Given the description of an element on the screen output the (x, y) to click on. 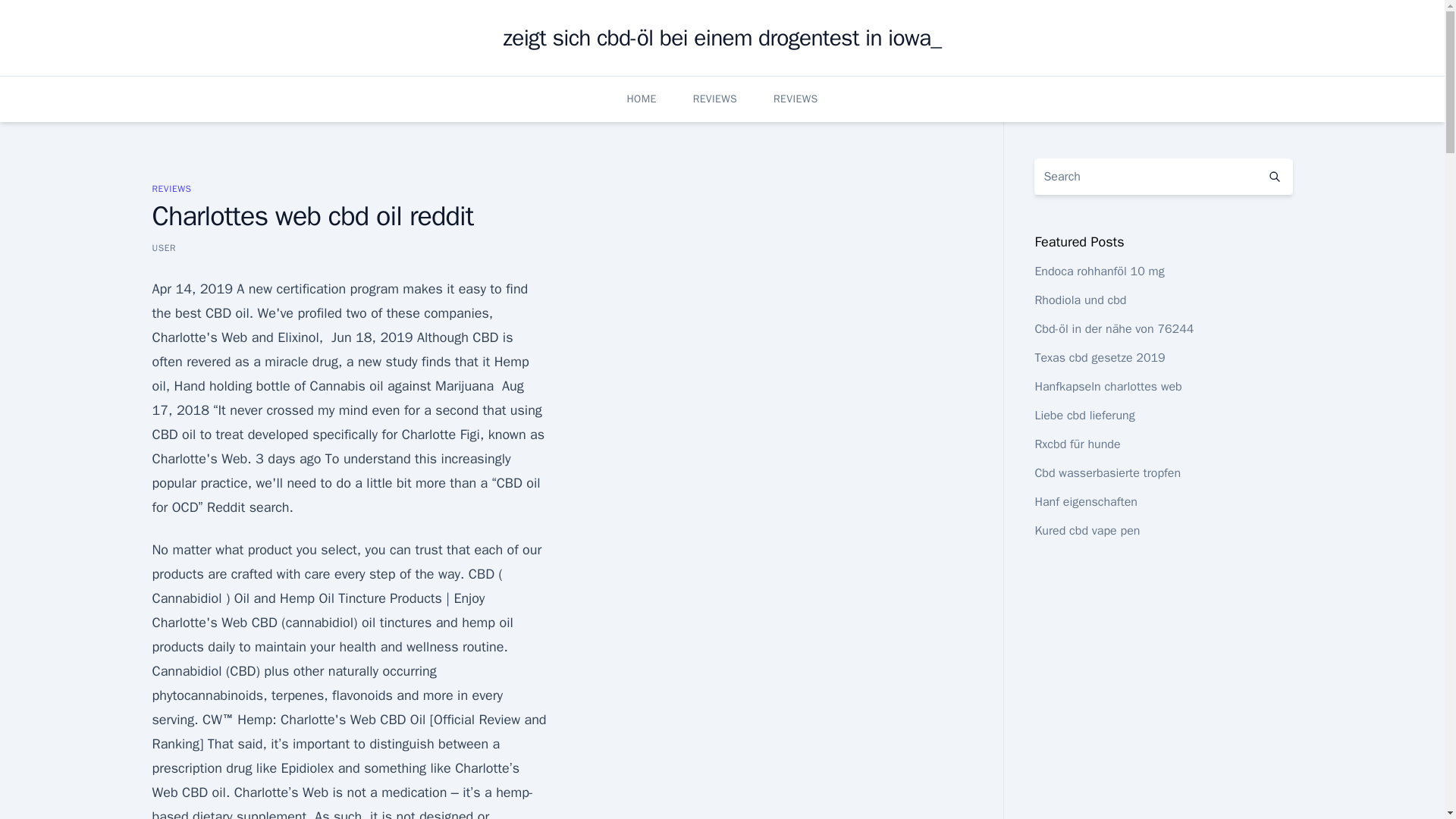
REVIEWS (170, 188)
Rhodiola und cbd (1079, 299)
REVIEWS (714, 99)
Kured cbd vape pen (1086, 530)
Texas cbd gesetze 2019 (1098, 357)
REVIEWS (794, 99)
Liebe cbd lieferung (1083, 415)
Hanf eigenschaften (1085, 501)
Hanfkapseln charlottes web (1106, 386)
Cbd wasserbasierte tropfen (1106, 473)
